Given the description of an element on the screen output the (x, y) to click on. 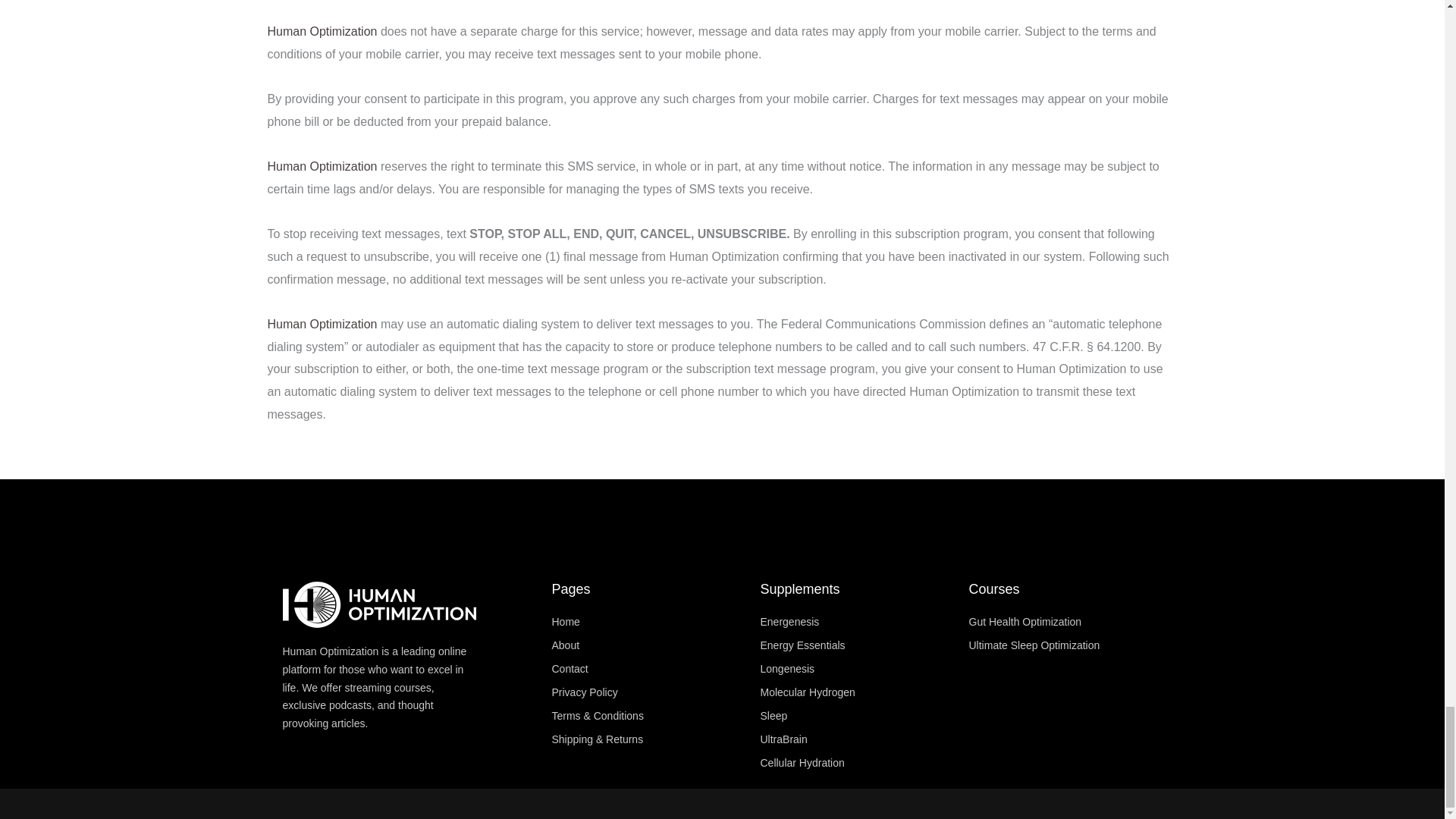
About (648, 646)
Contact (648, 669)
Home (648, 622)
